Given the description of an element on the screen output the (x, y) to click on. 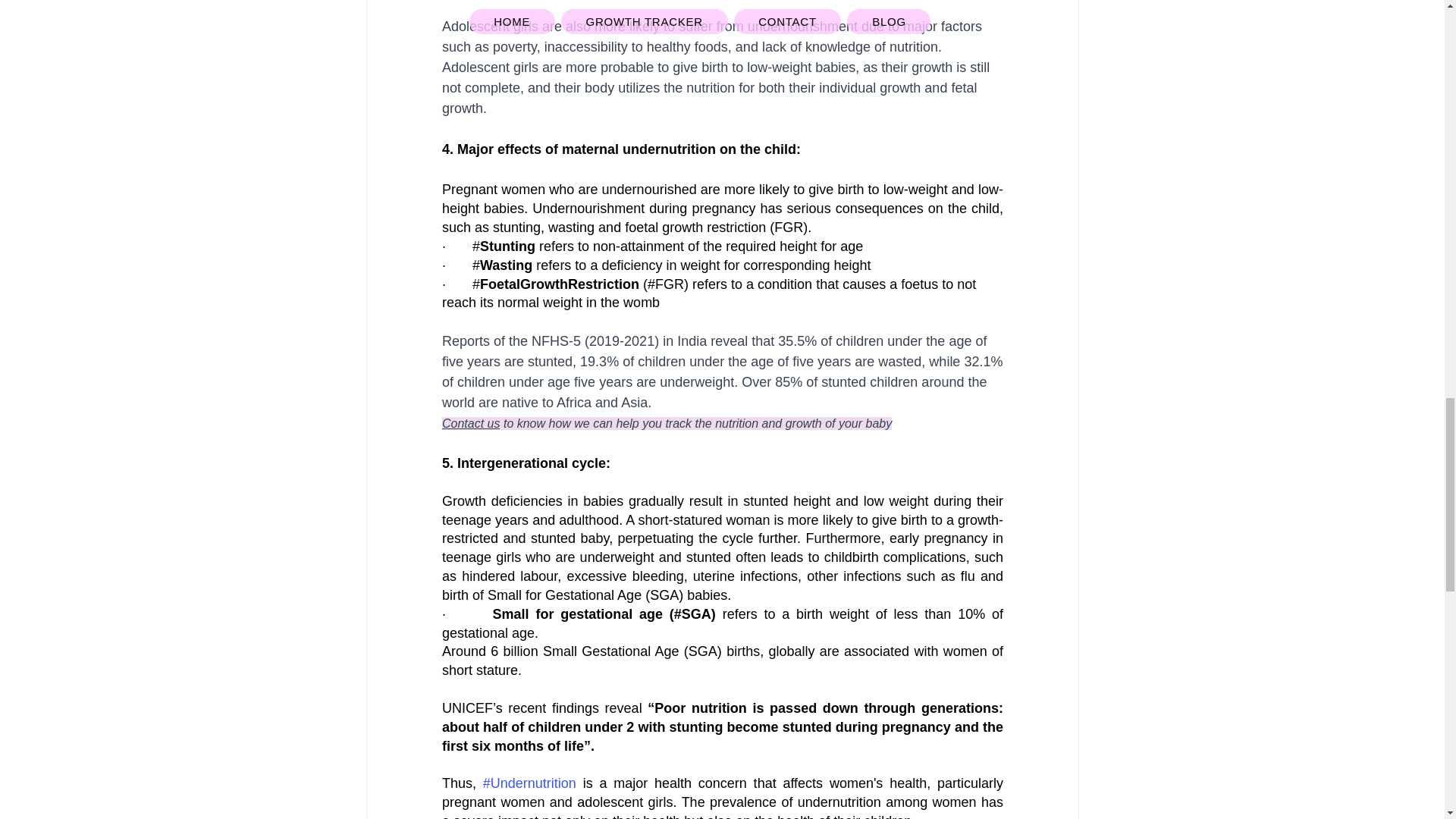
Contact us (470, 422)
